Given the description of an element on the screen output the (x, y) to click on. 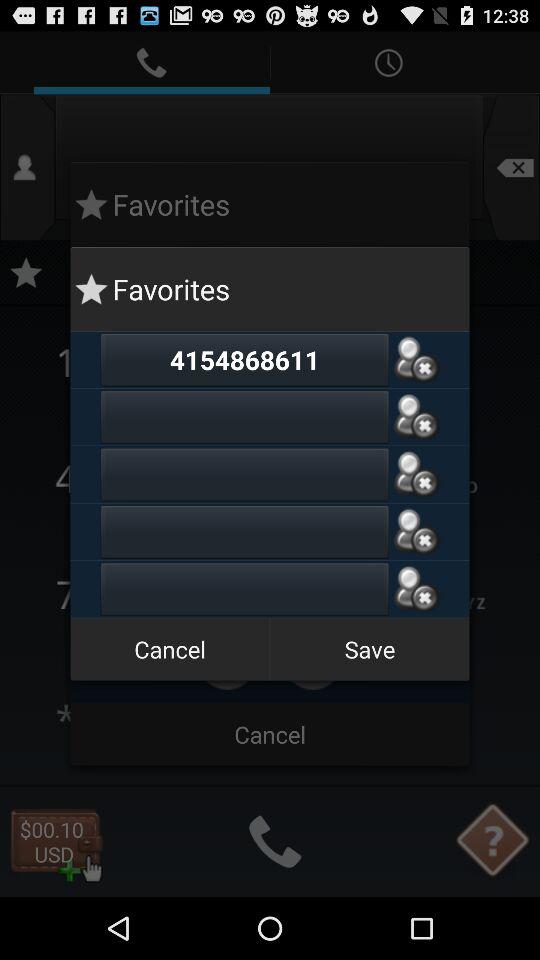
add number to favorites (416, 416)
